Given the description of an element on the screen output the (x, y) to click on. 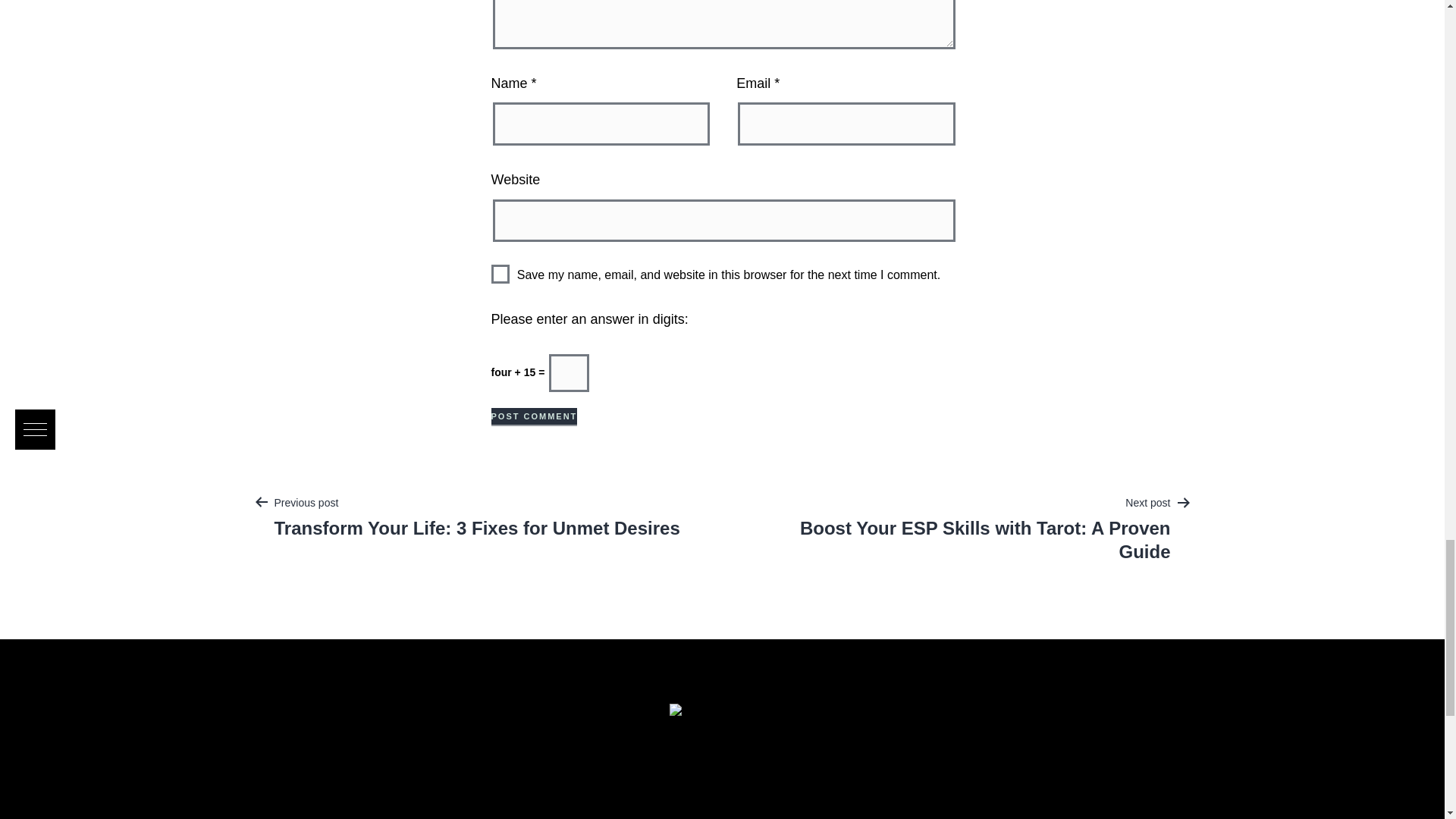
yes (500, 273)
Post Comment (535, 416)
